Given the description of an element on the screen output the (x, y) to click on. 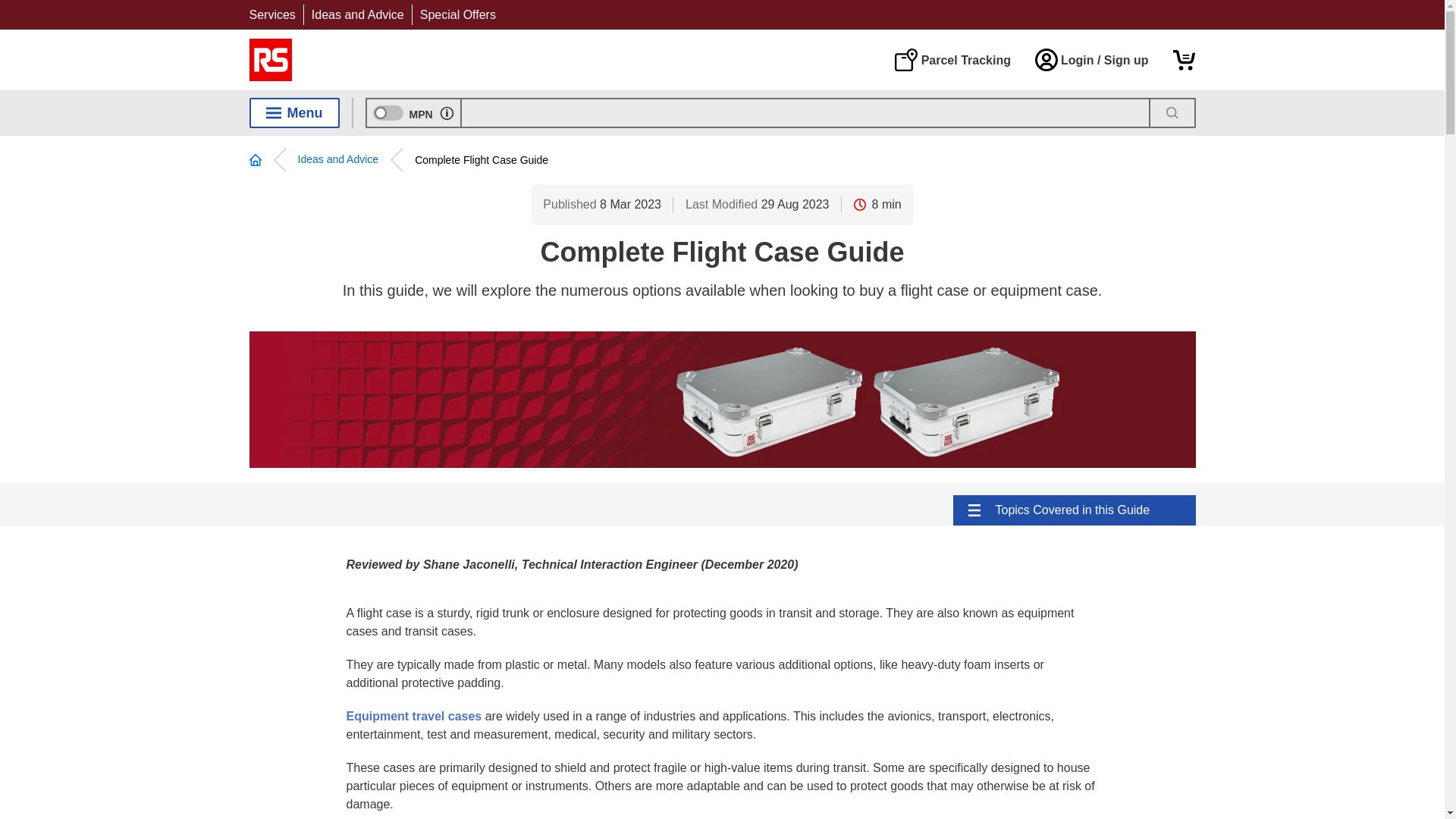
Menu (293, 112)
Ideas and Advice (357, 14)
Special Offers (458, 14)
Parcel Tracking (951, 59)
Services (271, 14)
